Given the description of an element on the screen output the (x, y) to click on. 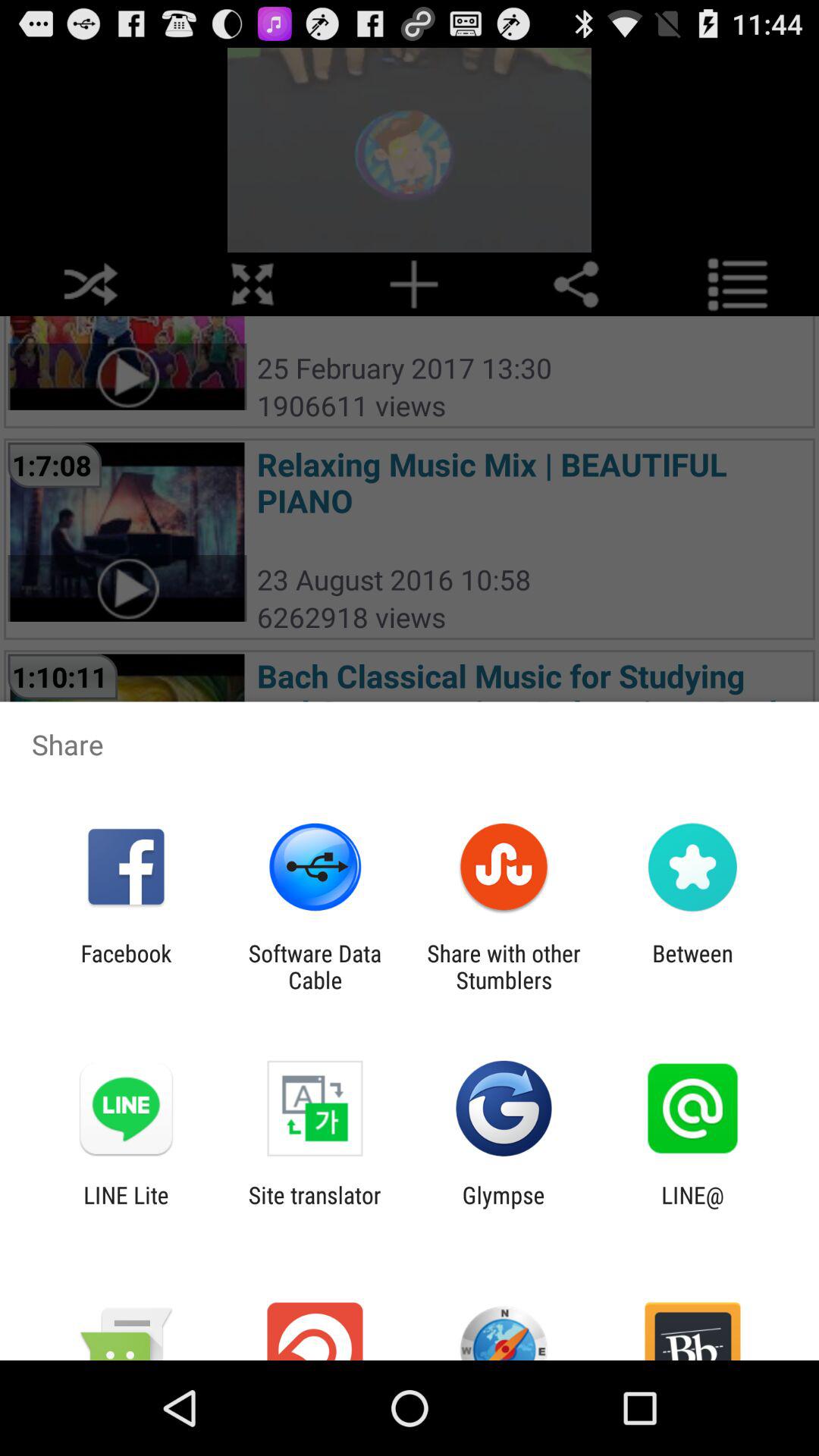
open app to the right of share with other icon (692, 966)
